Given the description of an element on the screen output the (x, y) to click on. 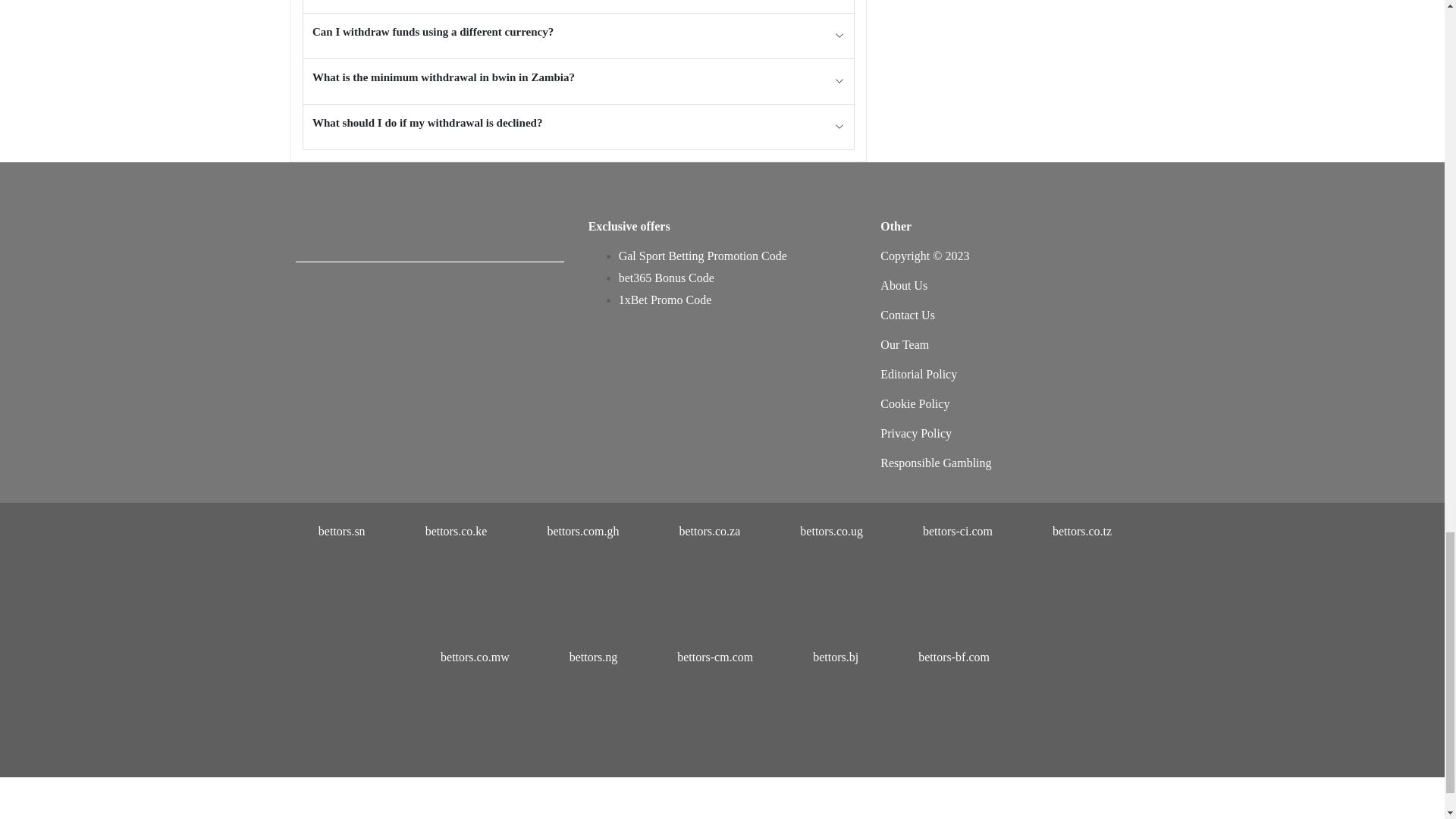
Can I withdraw funds using a different currency? (577, 35)
What is the minimum withdrawal in bwin in Zambia? (577, 81)
What are the withdrawal options for bwin? (577, 6)
